Given the description of an element on the screen output the (x, y) to click on. 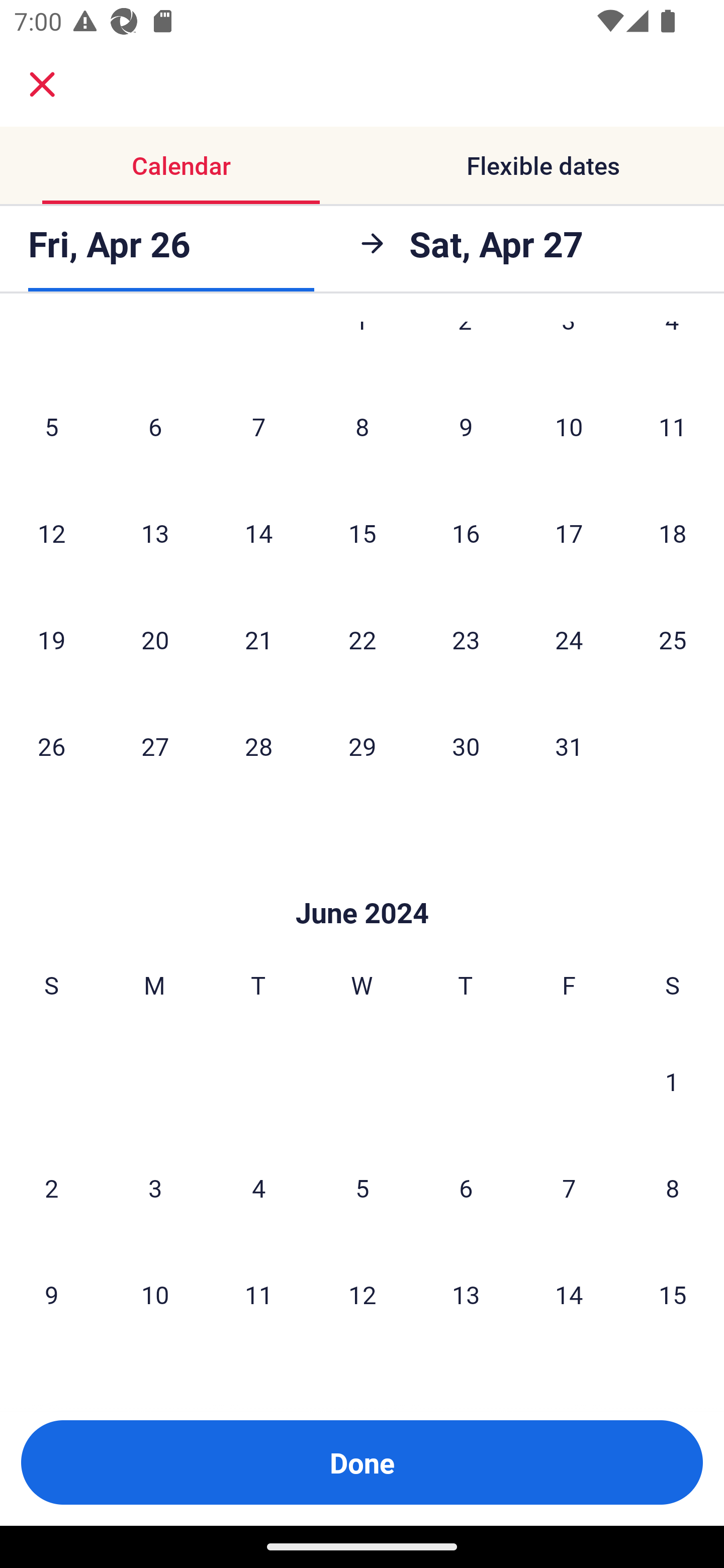
close. (42, 84)
Flexible dates (542, 164)
5 Sunday, May 5, 2024 (51, 426)
6 Monday, May 6, 2024 (155, 426)
7 Tuesday, May 7, 2024 (258, 426)
8 Wednesday, May 8, 2024 (362, 426)
9 Thursday, May 9, 2024 (465, 426)
10 Friday, May 10, 2024 (569, 426)
11 Saturday, May 11, 2024 (672, 426)
12 Sunday, May 12, 2024 (51, 532)
13 Monday, May 13, 2024 (155, 532)
14 Tuesday, May 14, 2024 (258, 532)
15 Wednesday, May 15, 2024 (362, 532)
16 Thursday, May 16, 2024 (465, 532)
17 Friday, May 17, 2024 (569, 532)
18 Saturday, May 18, 2024 (672, 532)
19 Sunday, May 19, 2024 (51, 639)
20 Monday, May 20, 2024 (155, 639)
21 Tuesday, May 21, 2024 (258, 639)
22 Wednesday, May 22, 2024 (362, 639)
23 Thursday, May 23, 2024 (465, 639)
24 Friday, May 24, 2024 (569, 639)
25 Saturday, May 25, 2024 (672, 639)
26 Sunday, May 26, 2024 (51, 746)
27 Monday, May 27, 2024 (155, 746)
28 Tuesday, May 28, 2024 (258, 746)
29 Wednesday, May 29, 2024 (362, 746)
30 Thursday, May 30, 2024 (465, 746)
31 Friday, May 31, 2024 (569, 746)
Skip to Done (362, 882)
1 Saturday, June 1, 2024 (672, 1081)
2 Sunday, June 2, 2024 (51, 1187)
3 Monday, June 3, 2024 (155, 1187)
4 Tuesday, June 4, 2024 (258, 1187)
5 Wednesday, June 5, 2024 (362, 1187)
6 Thursday, June 6, 2024 (465, 1187)
7 Friday, June 7, 2024 (569, 1187)
8 Saturday, June 8, 2024 (672, 1187)
9 Sunday, June 9, 2024 (51, 1294)
10 Monday, June 10, 2024 (155, 1294)
11 Tuesday, June 11, 2024 (258, 1294)
12 Wednesday, June 12, 2024 (362, 1294)
13 Thursday, June 13, 2024 (465, 1294)
14 Friday, June 14, 2024 (569, 1294)
15 Saturday, June 15, 2024 (672, 1294)
Done (361, 1462)
